Given the description of an element on the screen output the (x, y) to click on. 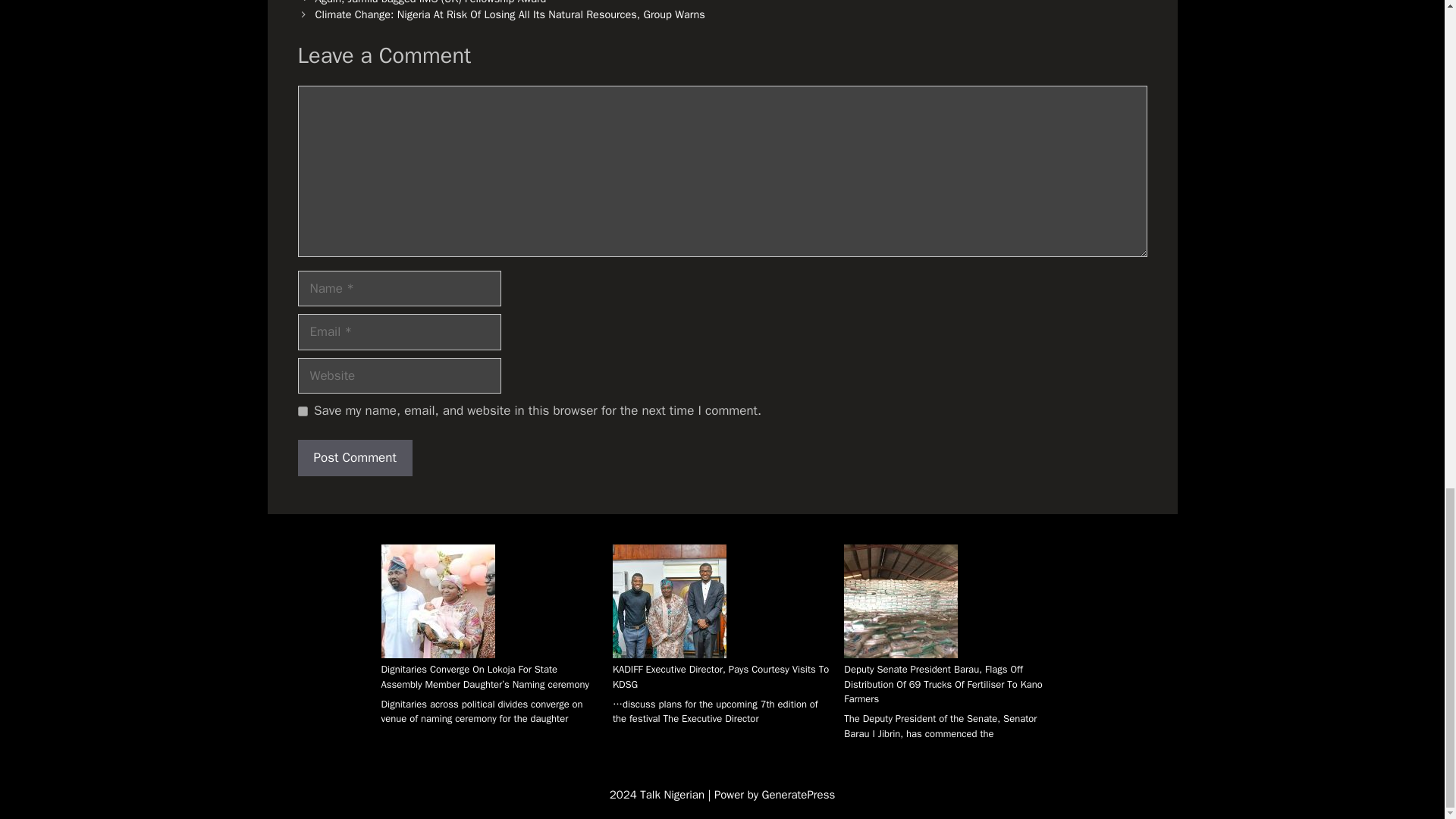
KADIFF Executive Director, Pays Courtesy Visits To KDSG (720, 676)
Post Comment (354, 457)
Talk Nigerian (673, 794)
Post Comment (354, 457)
GeneratePress (798, 794)
yes (302, 411)
